Given the description of an element on the screen output the (x, y) to click on. 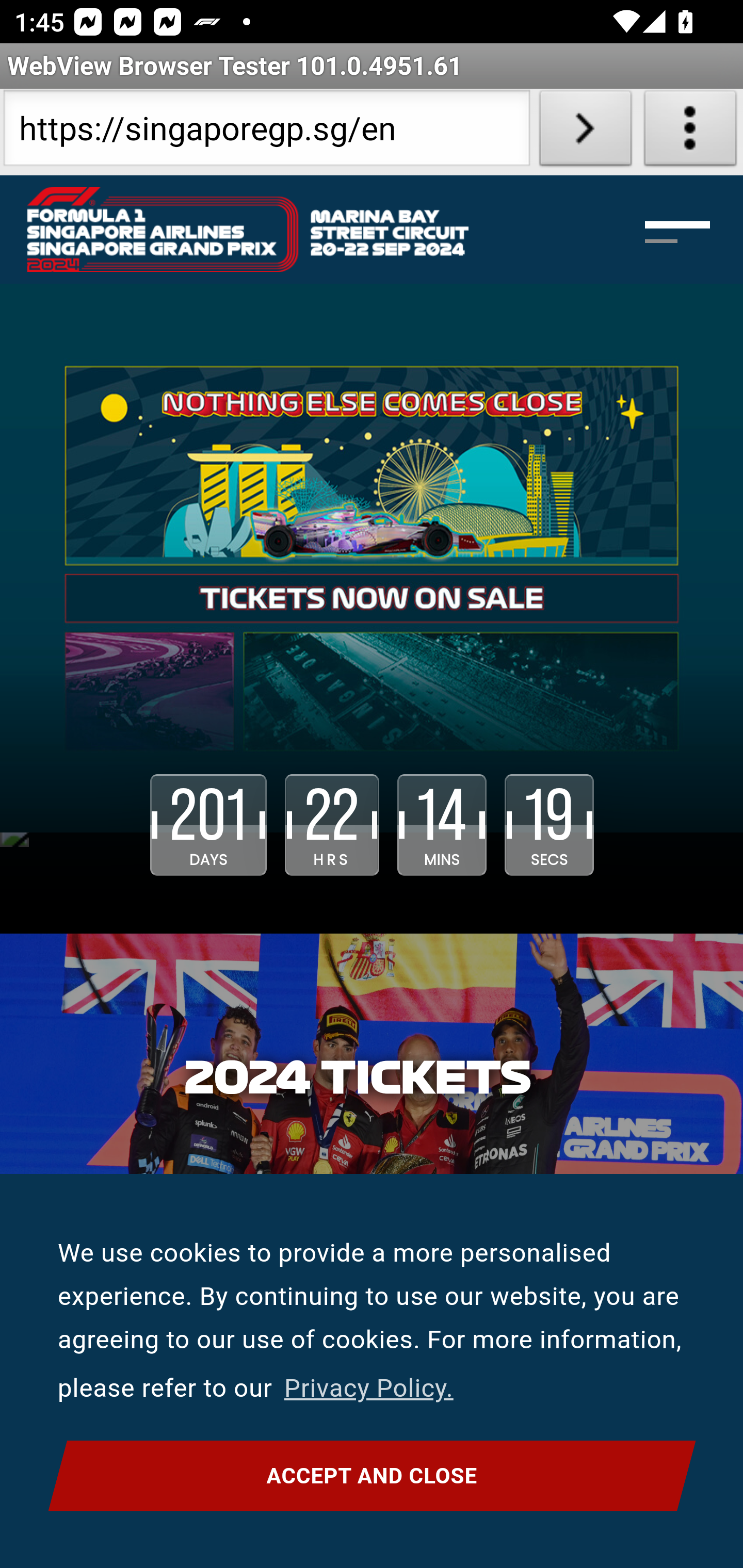
https://singaporegp.sg/en (266, 132)
Load URL (585, 132)
About WebView (690, 132)
Singapore Grand Prix Logo (247, 229)
all (371, 558)
2024 TICKETS Tickets 2024 TICKETS Tickets (371, 1083)
HOSPITALITY Hospitality HOSPITALITY Hospitality (371, 1381)
learn more about cookies (368, 1388)
dismiss cookie message (371, 1476)
